Given the description of an element on the screen output the (x, y) to click on. 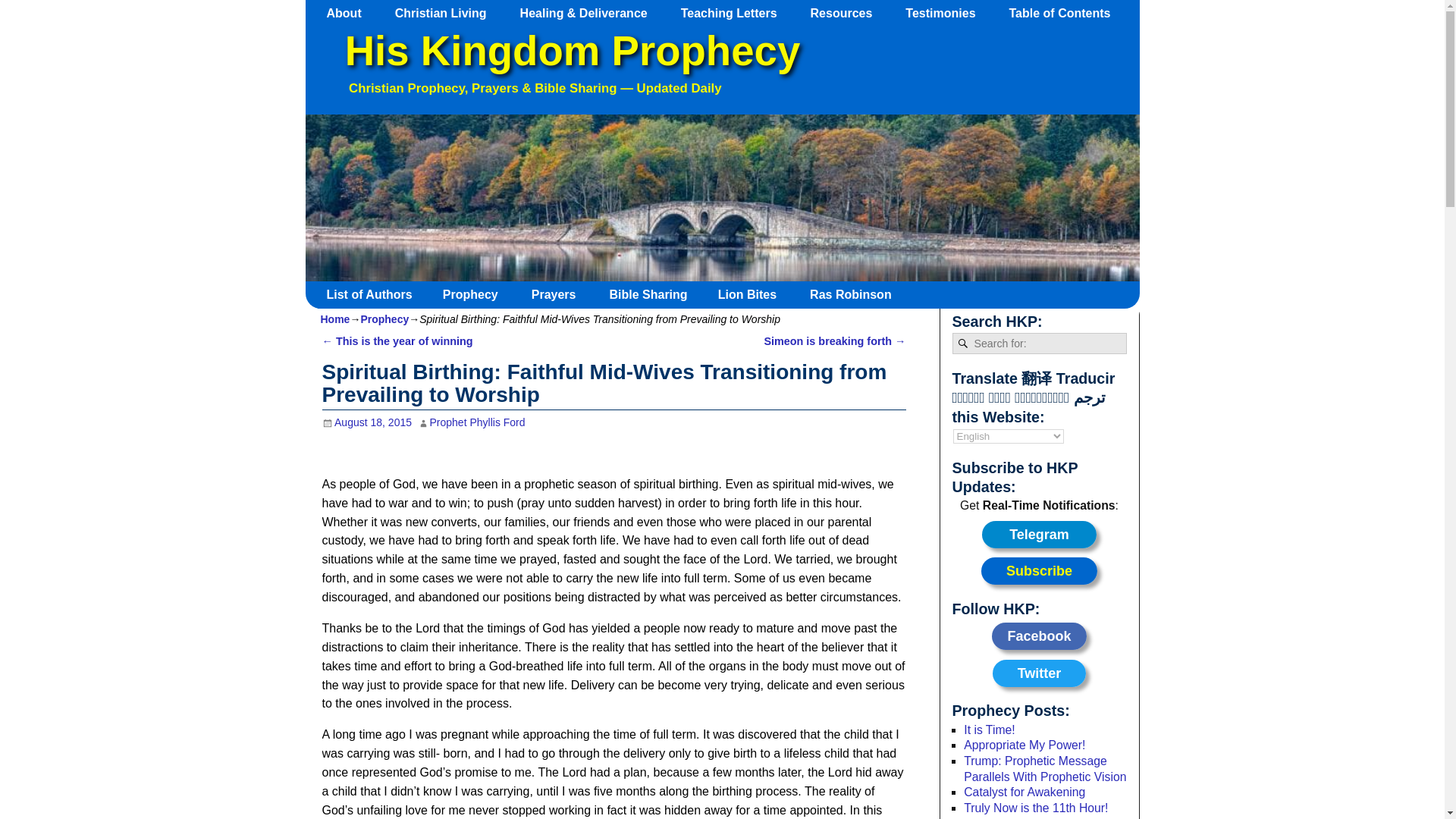
8:08 am (366, 422)
List of Authors (374, 294)
His Kingdom Prophecy (571, 50)
His Kingdom Prophecy (571, 50)
Christian Living (448, 13)
Teaching Letters (736, 13)
Testimonies (947, 13)
Table of Contents (1066, 13)
About (351, 13)
Resources (849, 13)
View all posts by Prophet Phyllis Ford (477, 422)
